Given the description of an element on the screen output the (x, y) to click on. 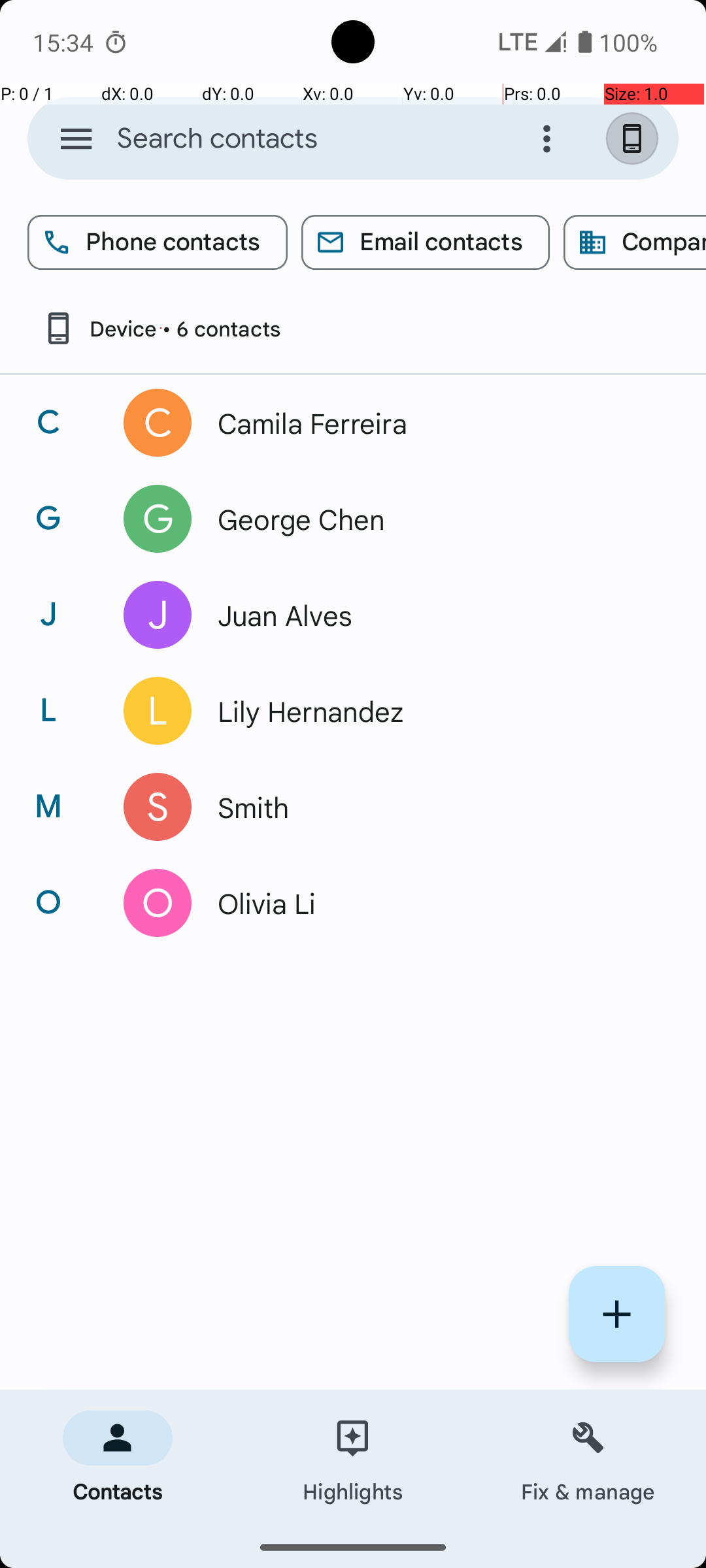
Device • 6 contacts Element type: android.widget.TextView (161, 328)
Camila Ferreira Element type: android.widget.TextView (434, 422)
George Chen Element type: android.widget.TextView (434, 518)
Juan Alves Element type: android.widget.TextView (434, 614)
Lily Hernandez Element type: android.widget.TextView (434, 710)
Smith Element type: android.widget.TextView (434, 806)
Olivia Li Element type: android.widget.TextView (434, 902)
